Given the description of an element on the screen output the (x, y) to click on. 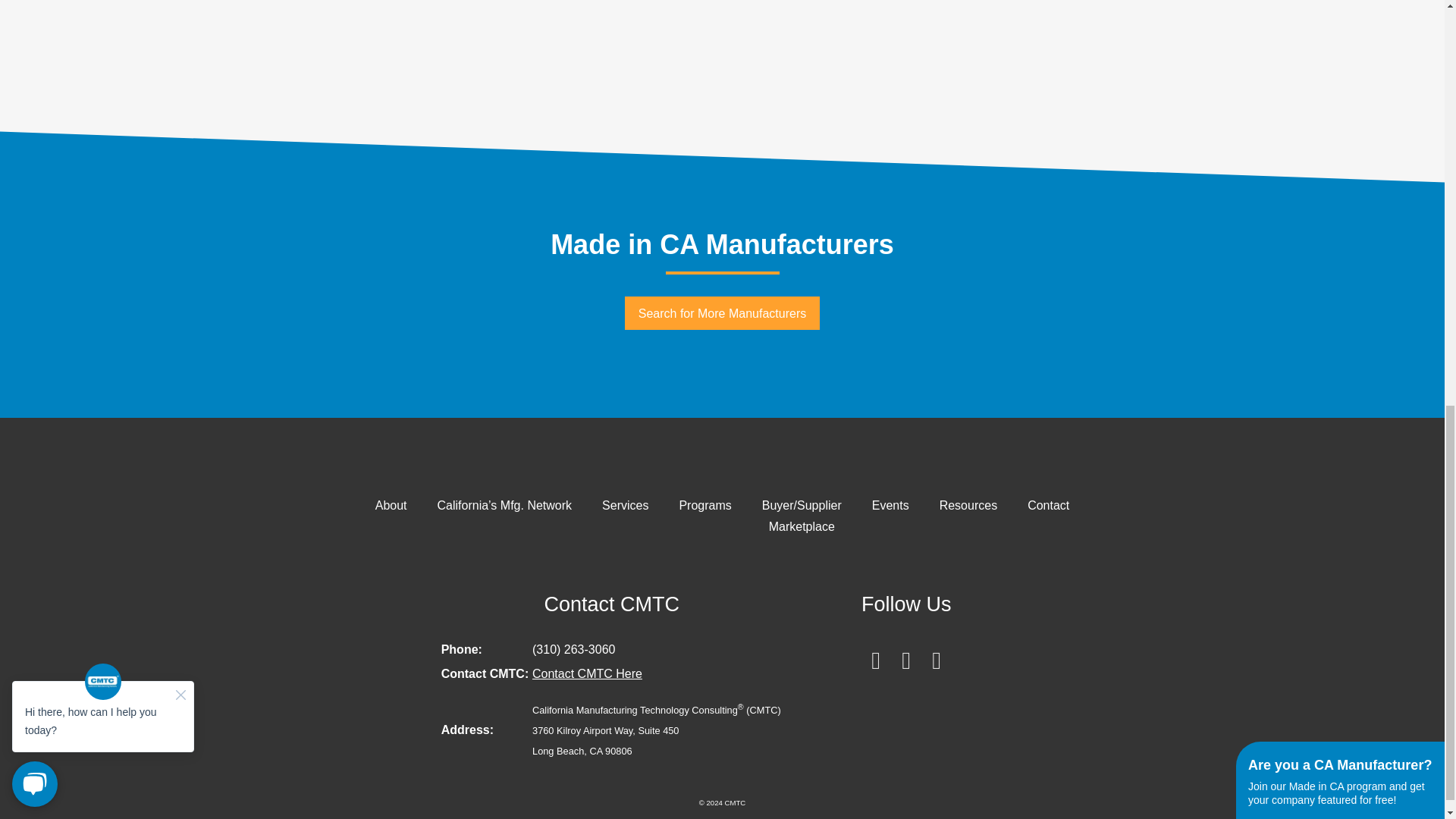
Follow us on Linkedin (936, 651)
Follow us on Facebook (875, 651)
Follow us on Twitter (905, 651)
